Given the description of an element on the screen output the (x, y) to click on. 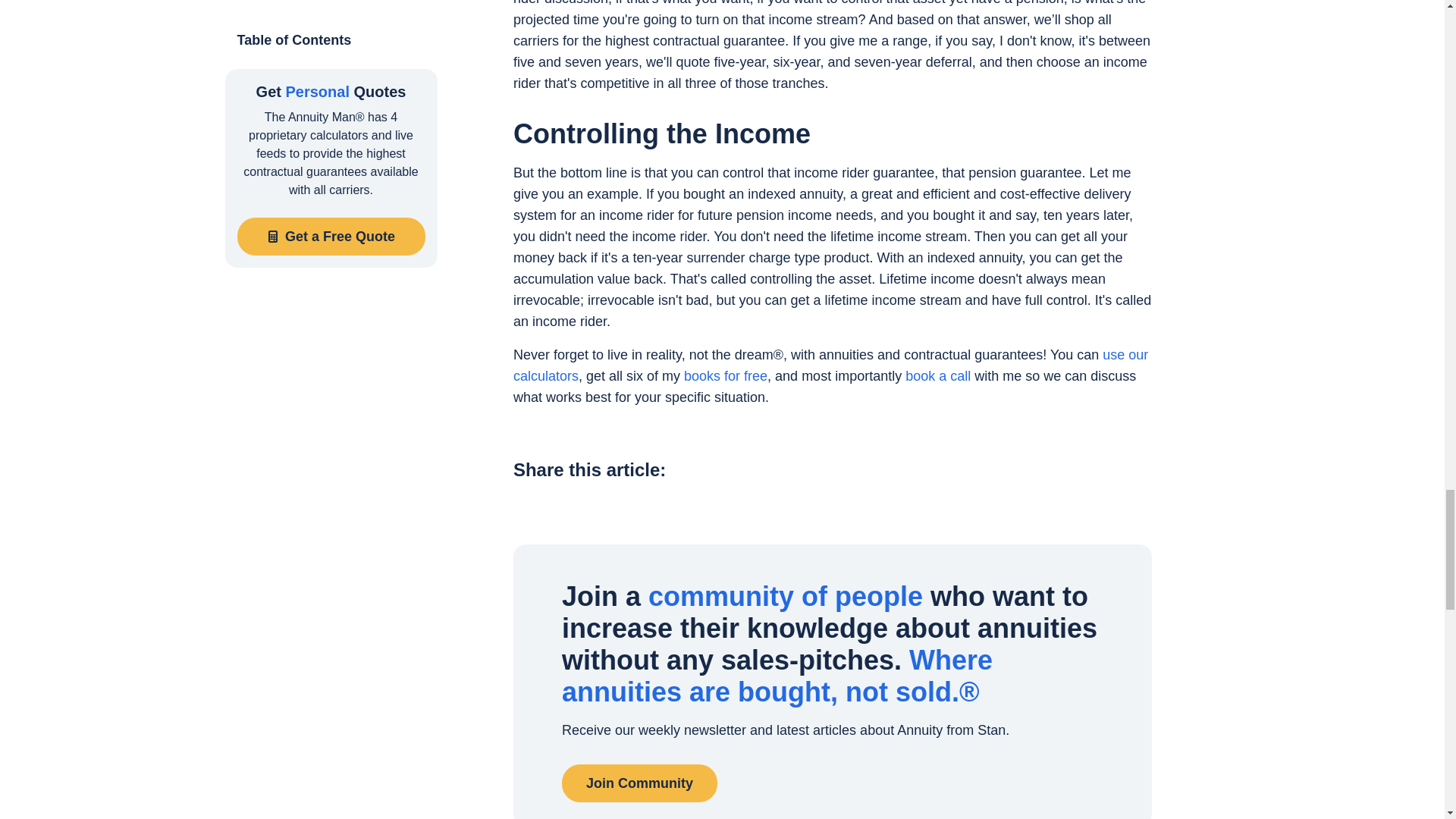
book a call (938, 376)
use our calculators (830, 365)
books for free (725, 376)
Join Community (639, 783)
